Given the description of an element on the screen output the (x, y) to click on. 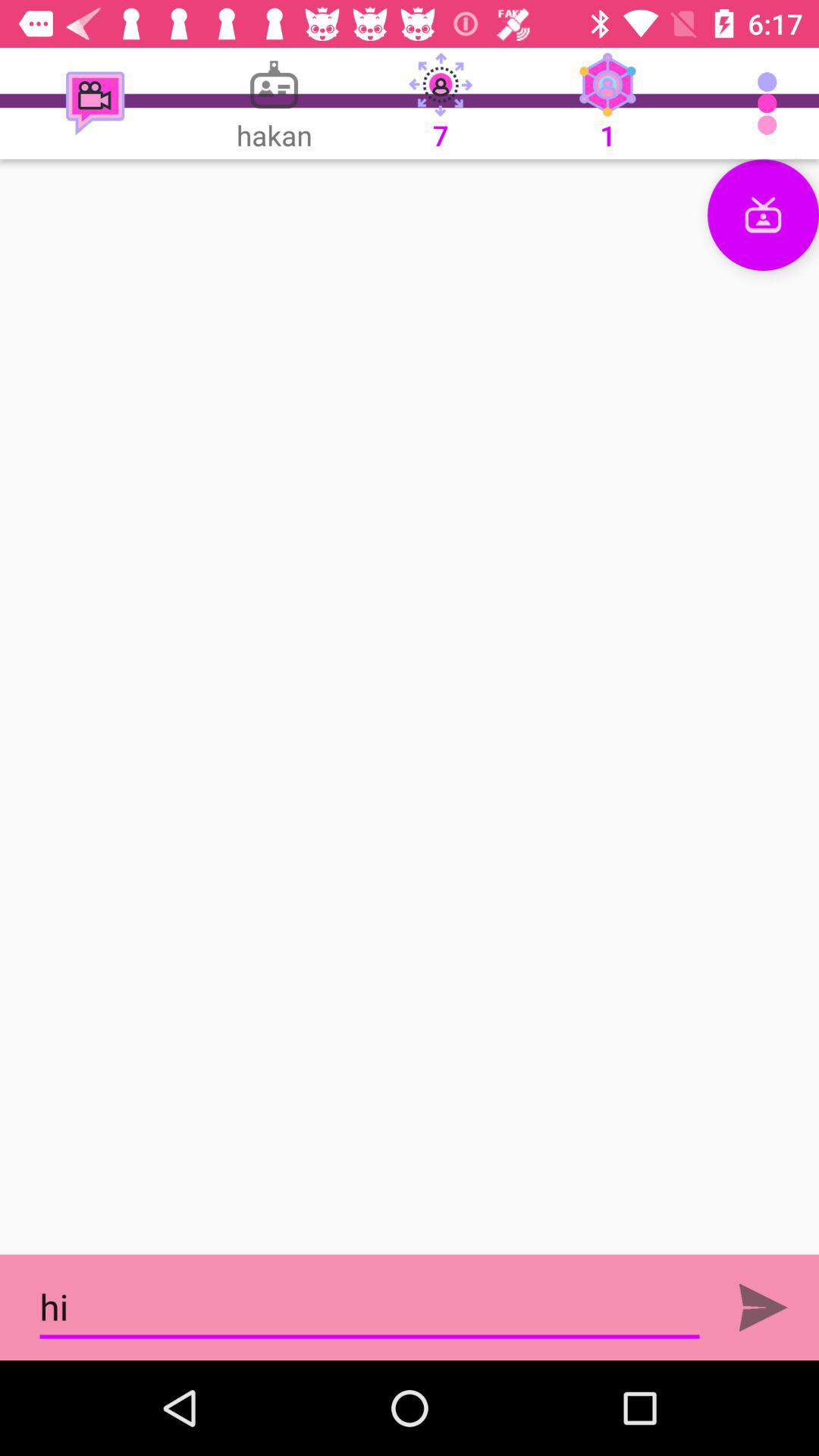
video chat button (763, 214)
